Given the description of an element on the screen output the (x, y) to click on. 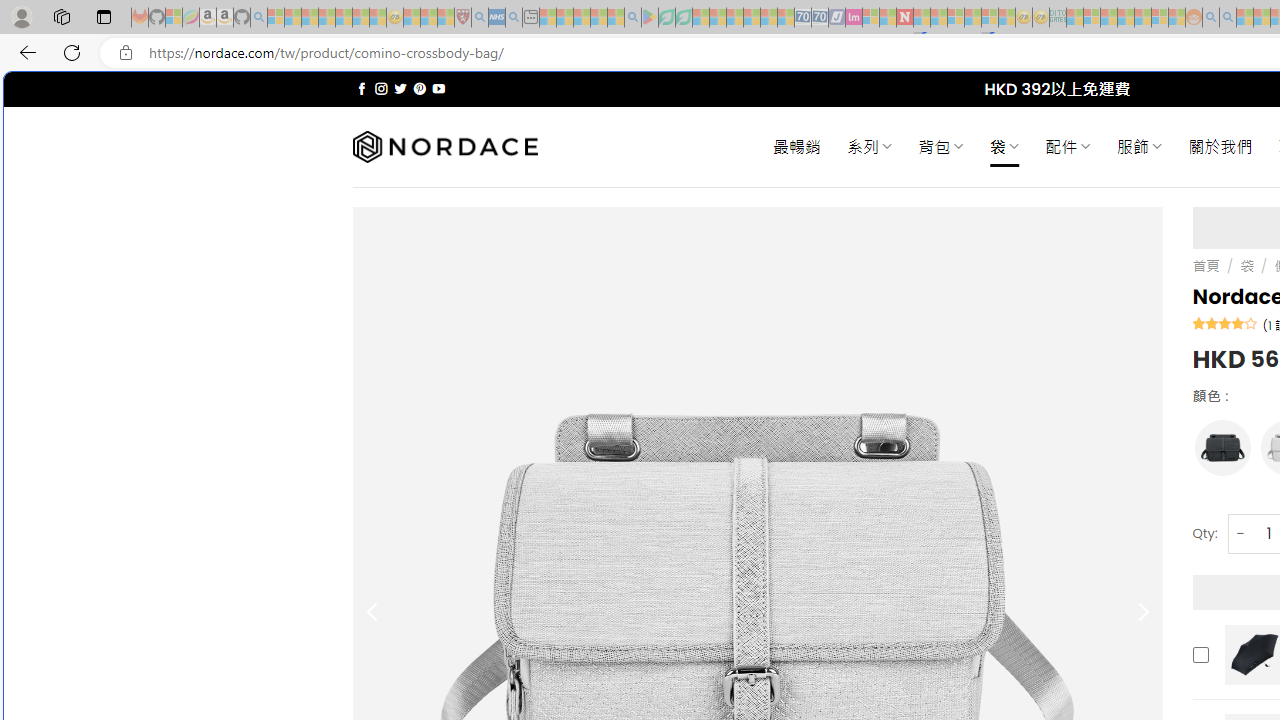
Follow on Twitter (400, 88)
